Given the description of an element on the screen output the (x, y) to click on. 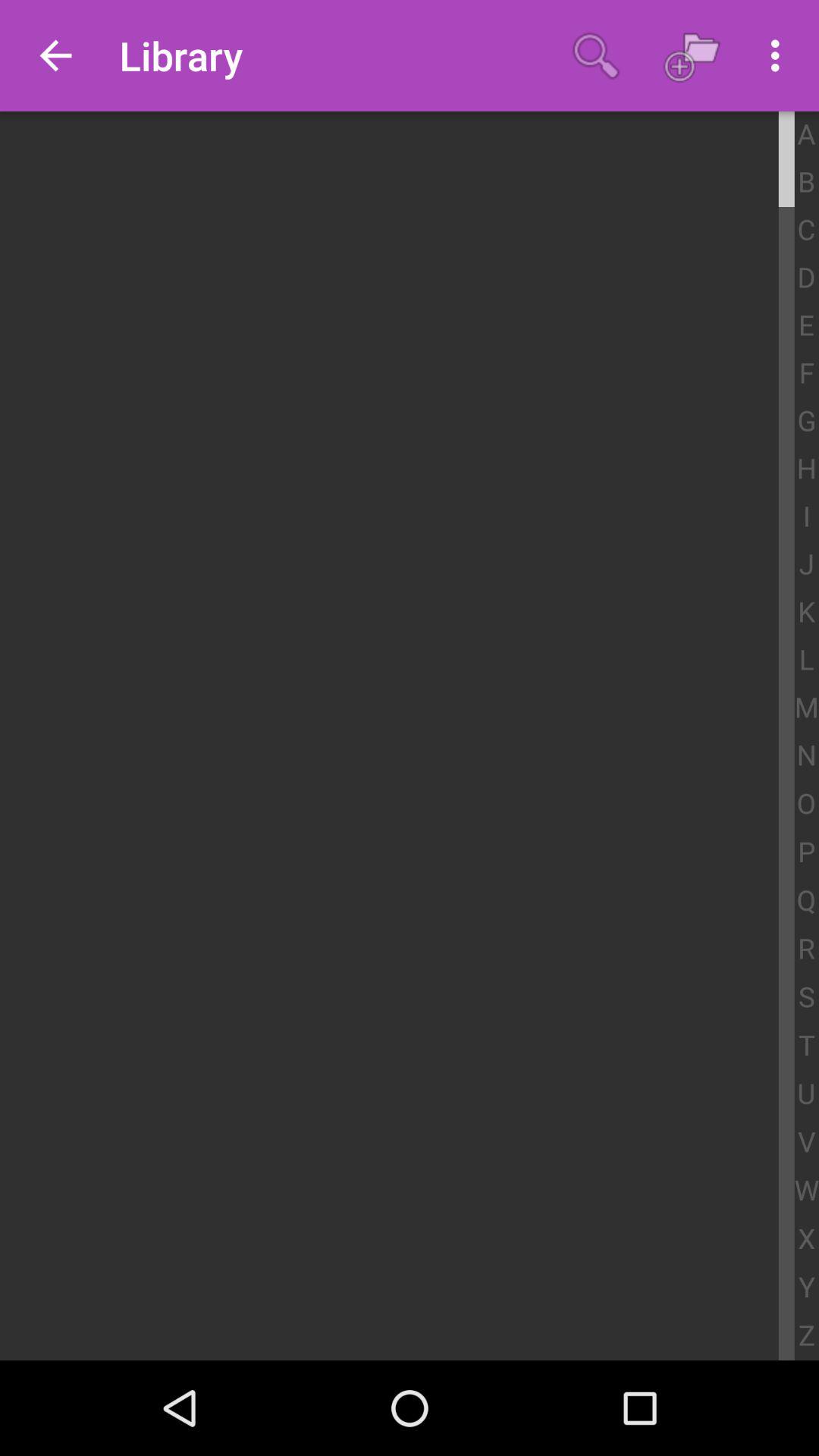
tap icon below the o icon (806, 852)
